Given the description of an element on the screen output the (x, y) to click on. 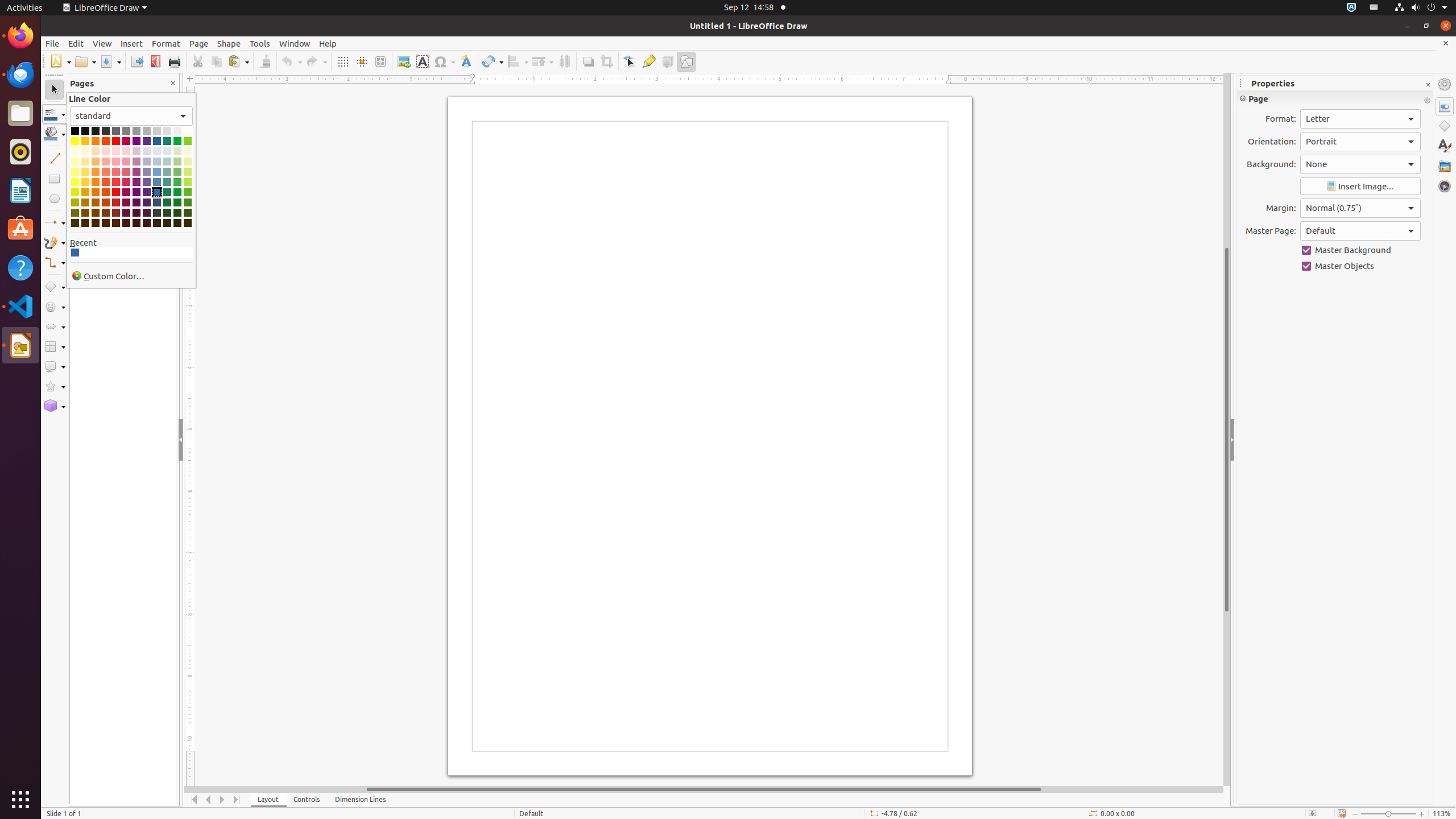
Image Element type: push-button (403, 61)
Light Yellow 3 Element type: list-item (74, 161)
Dark Purple 1 Element type: list-item (136, 192)
Tools Element type: menu (259, 43)
